Given the description of an element on the screen output the (x, y) to click on. 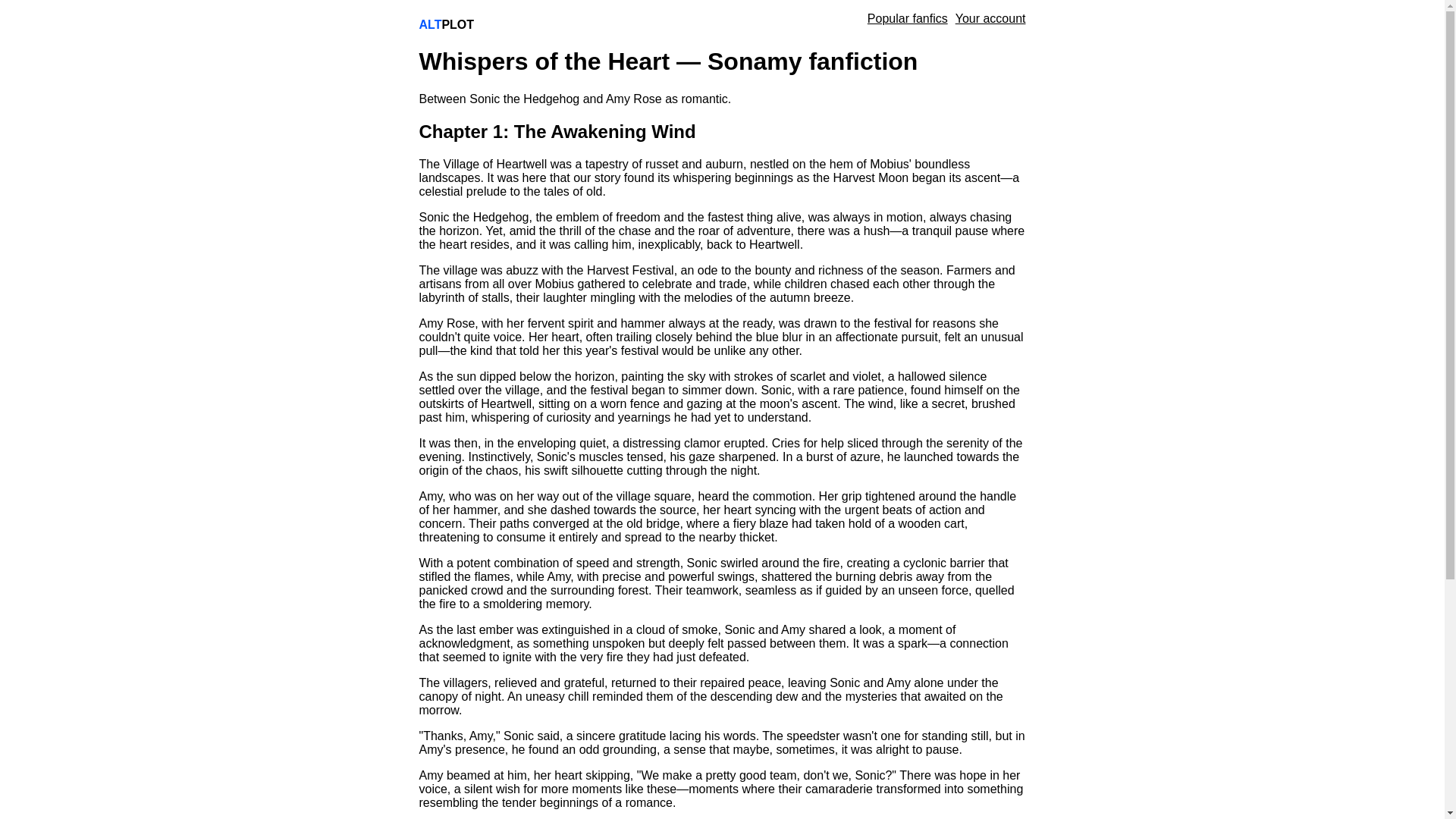
ALTPLOT (446, 24)
Popular fanfics (907, 18)
Your account (990, 18)
